Given the description of an element on the screen output the (x, y) to click on. 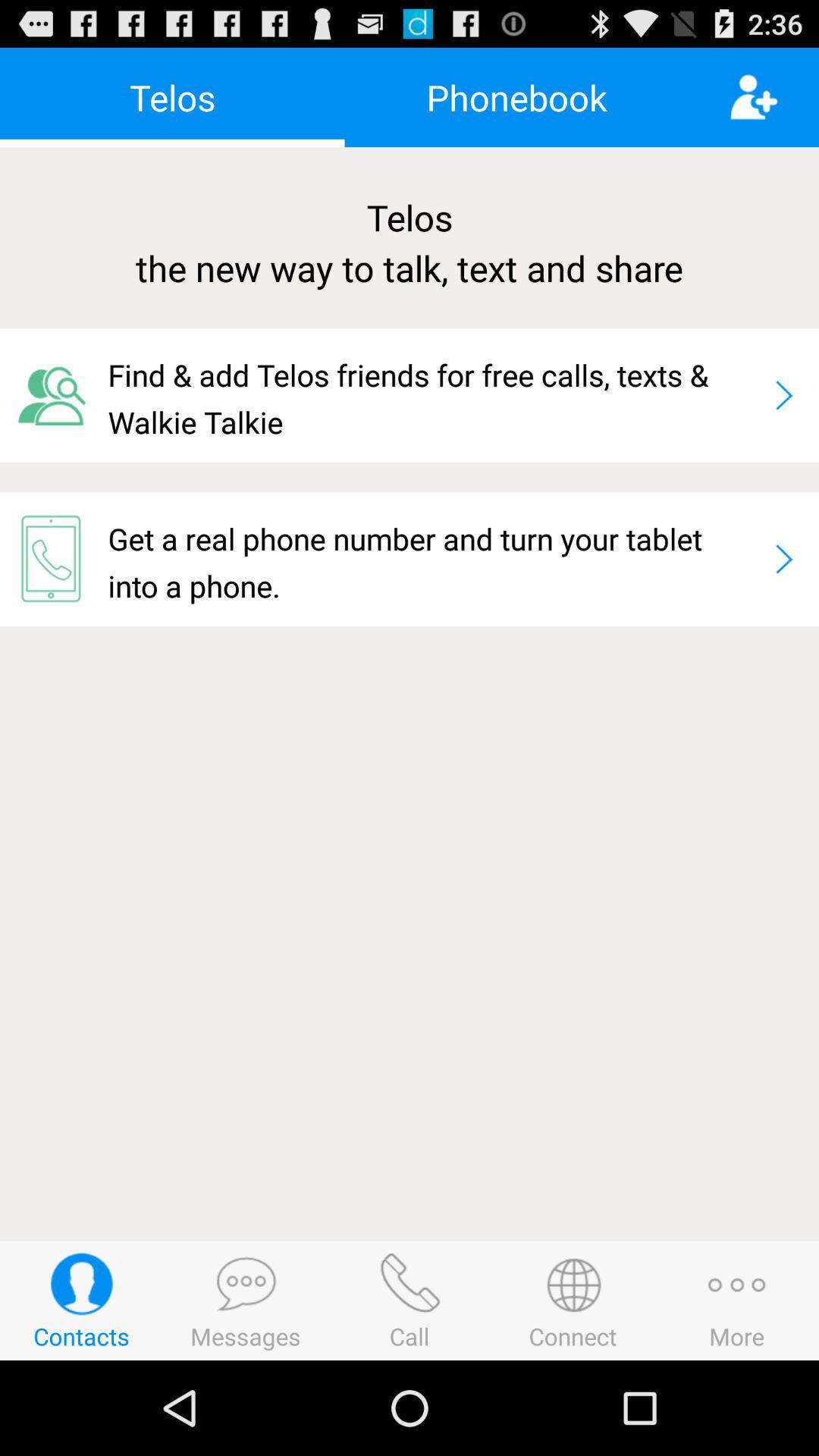
launch icon at the center (433, 559)
